Given the description of an element on the screen output the (x, y) to click on. 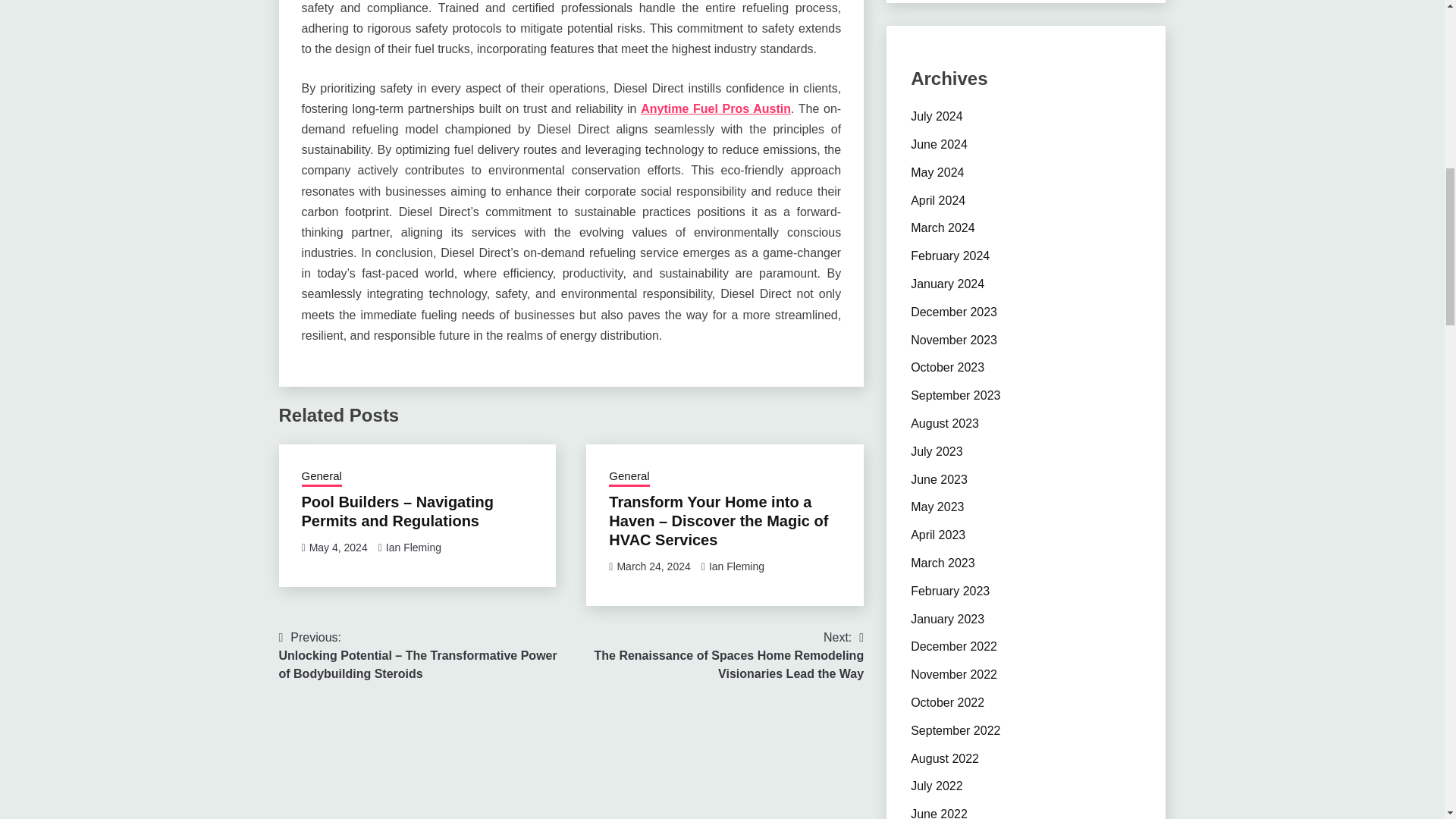
Ian Fleming (736, 566)
General (628, 477)
July 2024 (936, 115)
May 4, 2024 (338, 547)
General (321, 477)
Ian Fleming (413, 547)
Anytime Fuel Pros Austin (715, 108)
June 2024 (939, 144)
March 24, 2024 (652, 566)
